Given the description of an element on the screen output the (x, y) to click on. 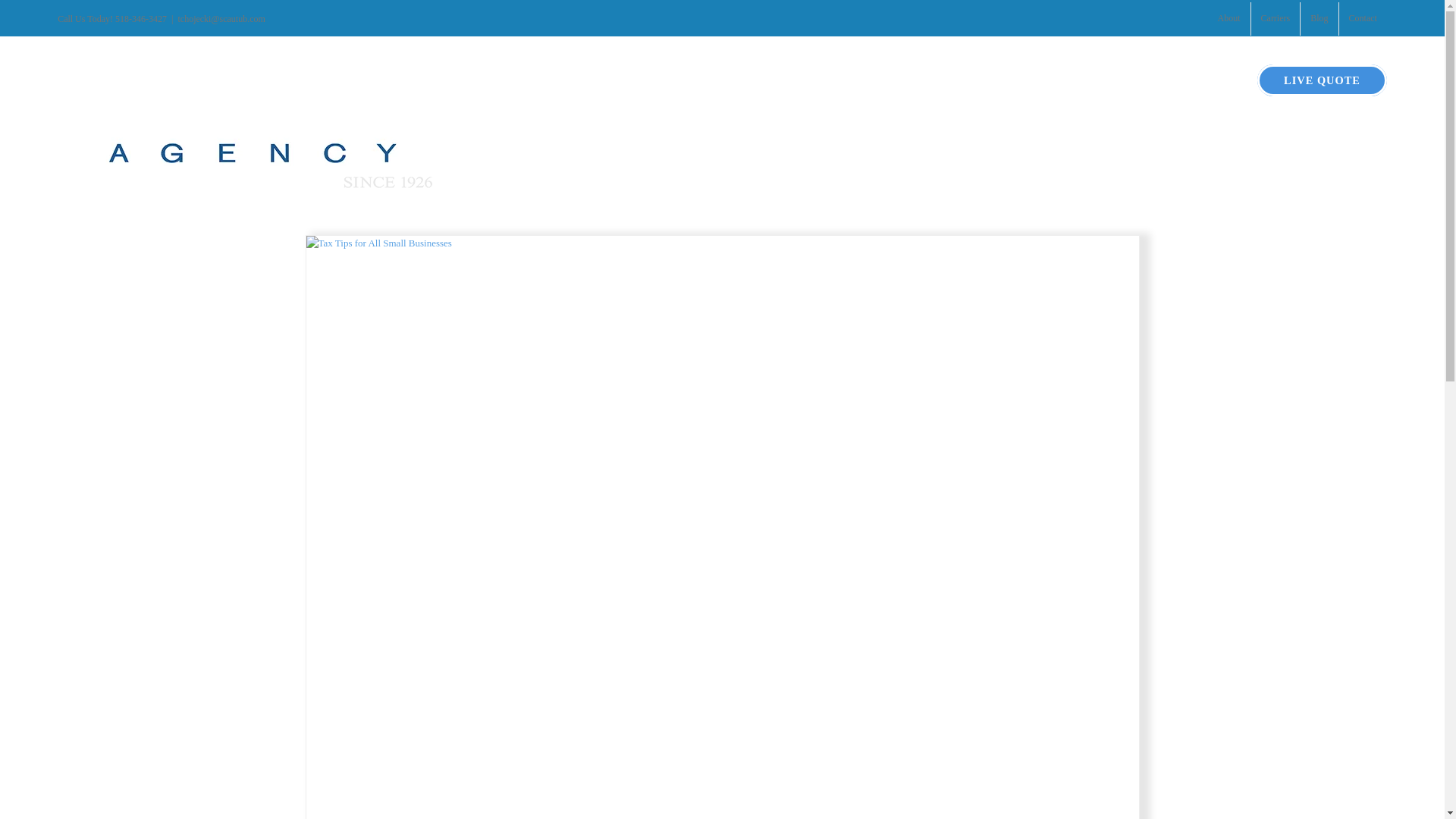
Carriers (1275, 19)
LIVE QUOTE (1322, 67)
HOMEOWNER (1078, 67)
Blog (1319, 19)
BUSINESS (1190, 67)
518-346-3427 (141, 18)
Contact (1363, 19)
About (1229, 19)
